Given the description of an element on the screen output the (x, y) to click on. 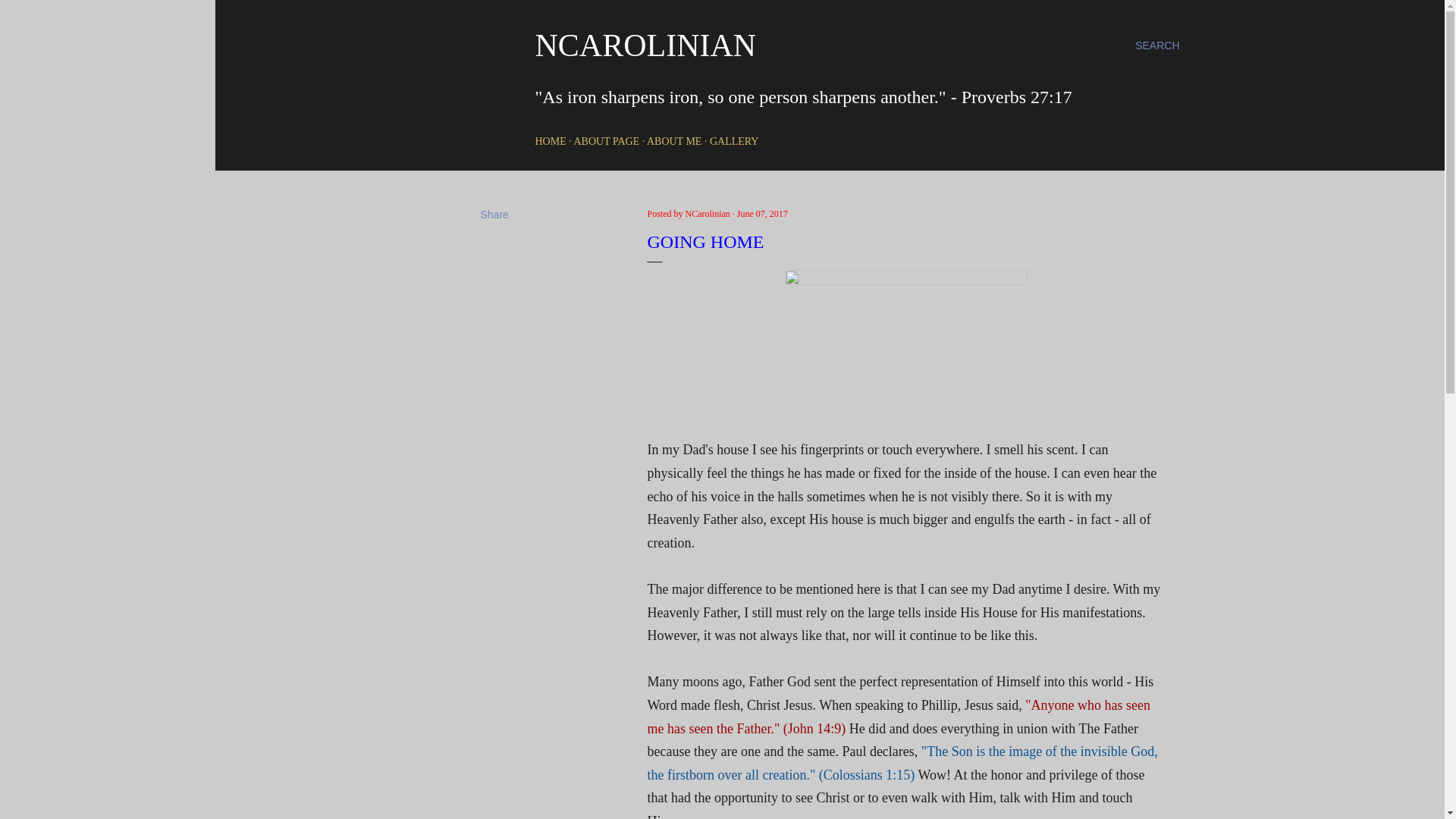
HOME (550, 141)
June 07, 2017 (761, 213)
NCAROLINIAN (646, 45)
author profile (708, 213)
ABOUT PAGE (606, 141)
GALLERY (734, 141)
NCarolinian (708, 213)
SEARCH (1157, 45)
Share (494, 214)
ABOUT ME (673, 141)
